Given the description of an element on the screen output the (x, y) to click on. 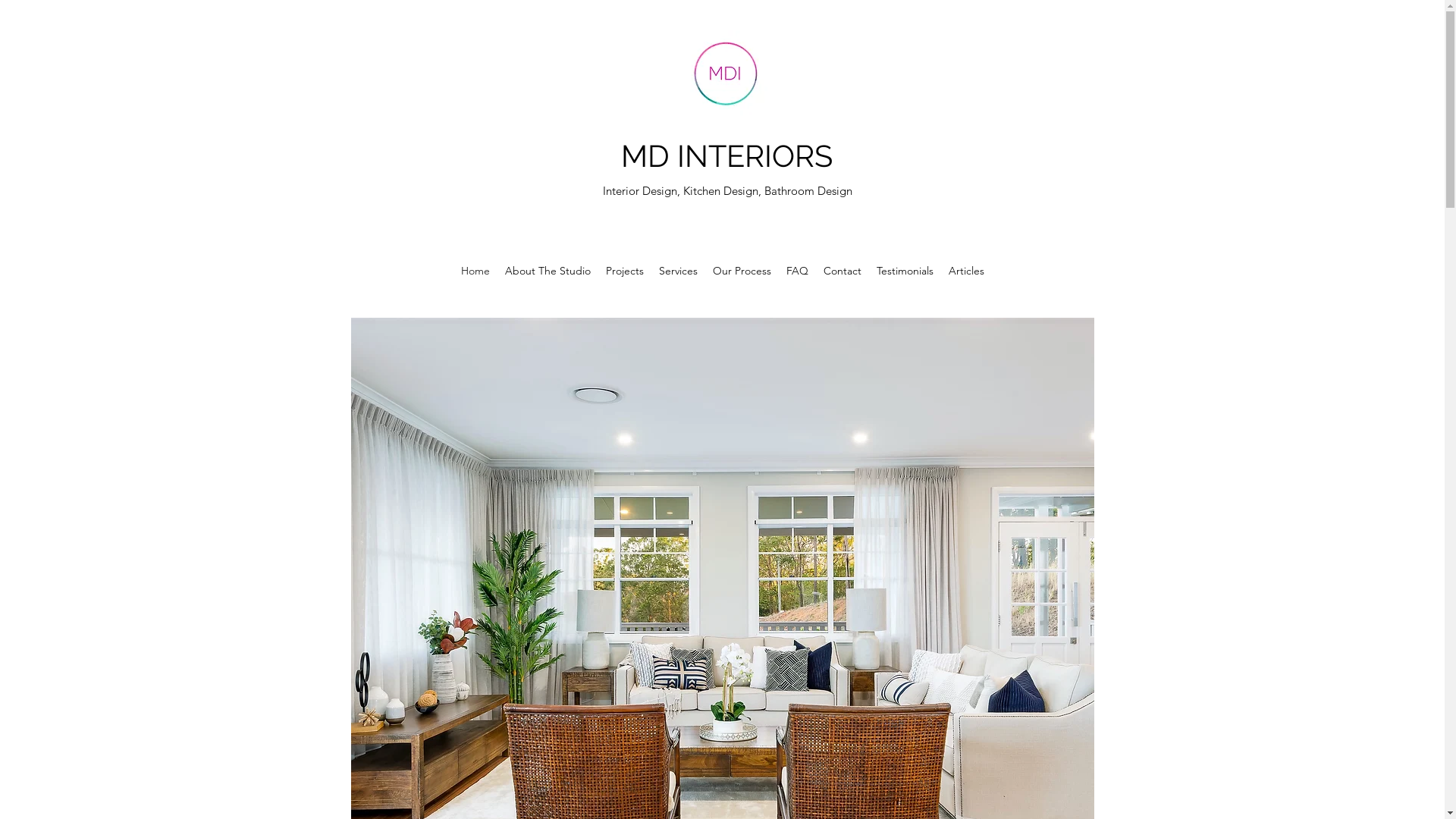
MD INTERIORS Element type: text (726, 155)
Our Process Element type: text (741, 270)
Projects Element type: text (623, 270)
Home Element type: text (475, 270)
Services Element type: text (677, 270)
FAQ Element type: text (796, 270)
About The Studio Element type: text (547, 270)
Articles Element type: text (965, 270)
Testimonials Element type: text (905, 270)
Contact Element type: text (842, 270)
